Given the description of an element on the screen output the (x, y) to click on. 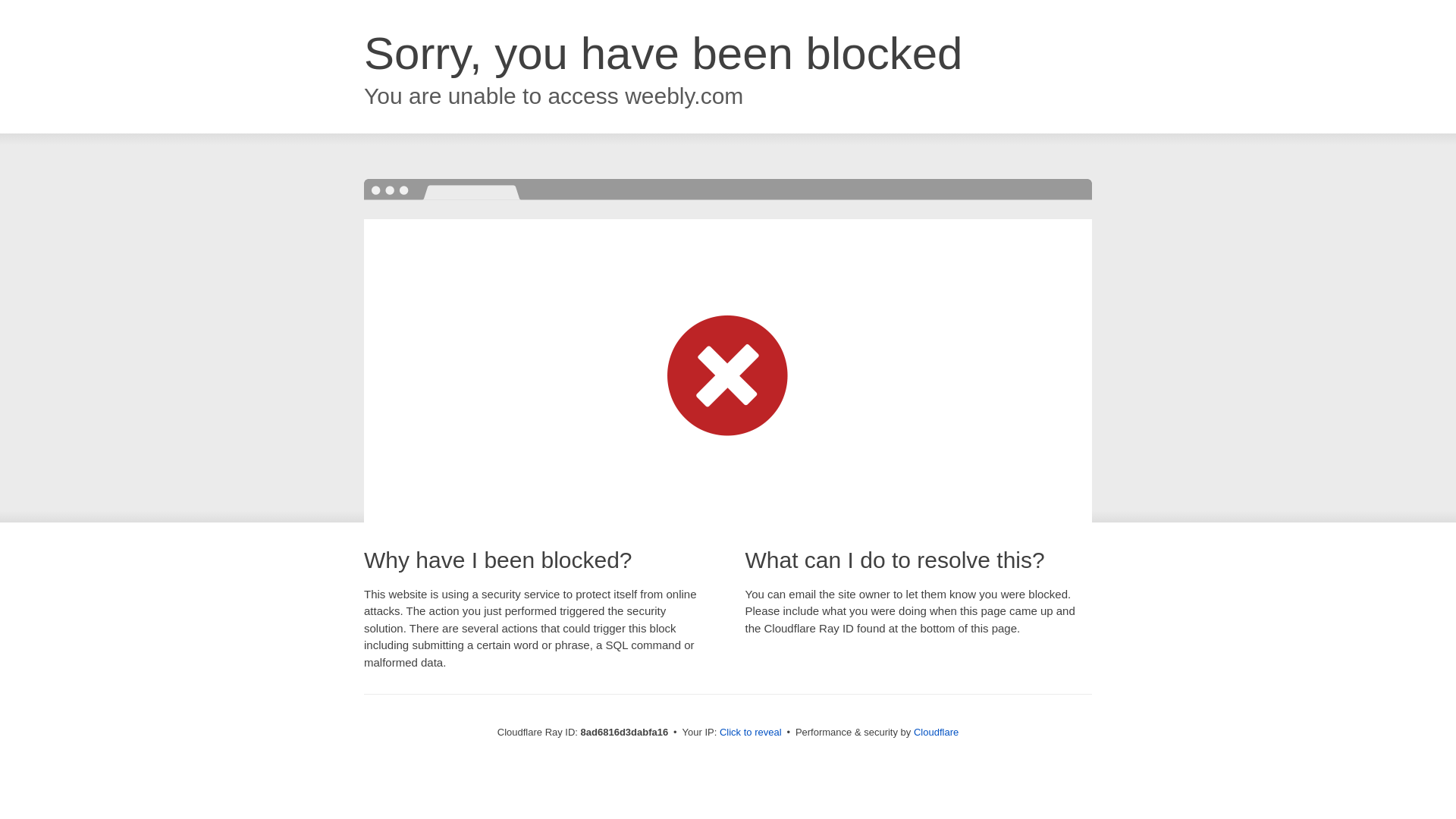
Click to reveal (750, 732)
Cloudflare (936, 731)
